Given the description of an element on the screen output the (x, y) to click on. 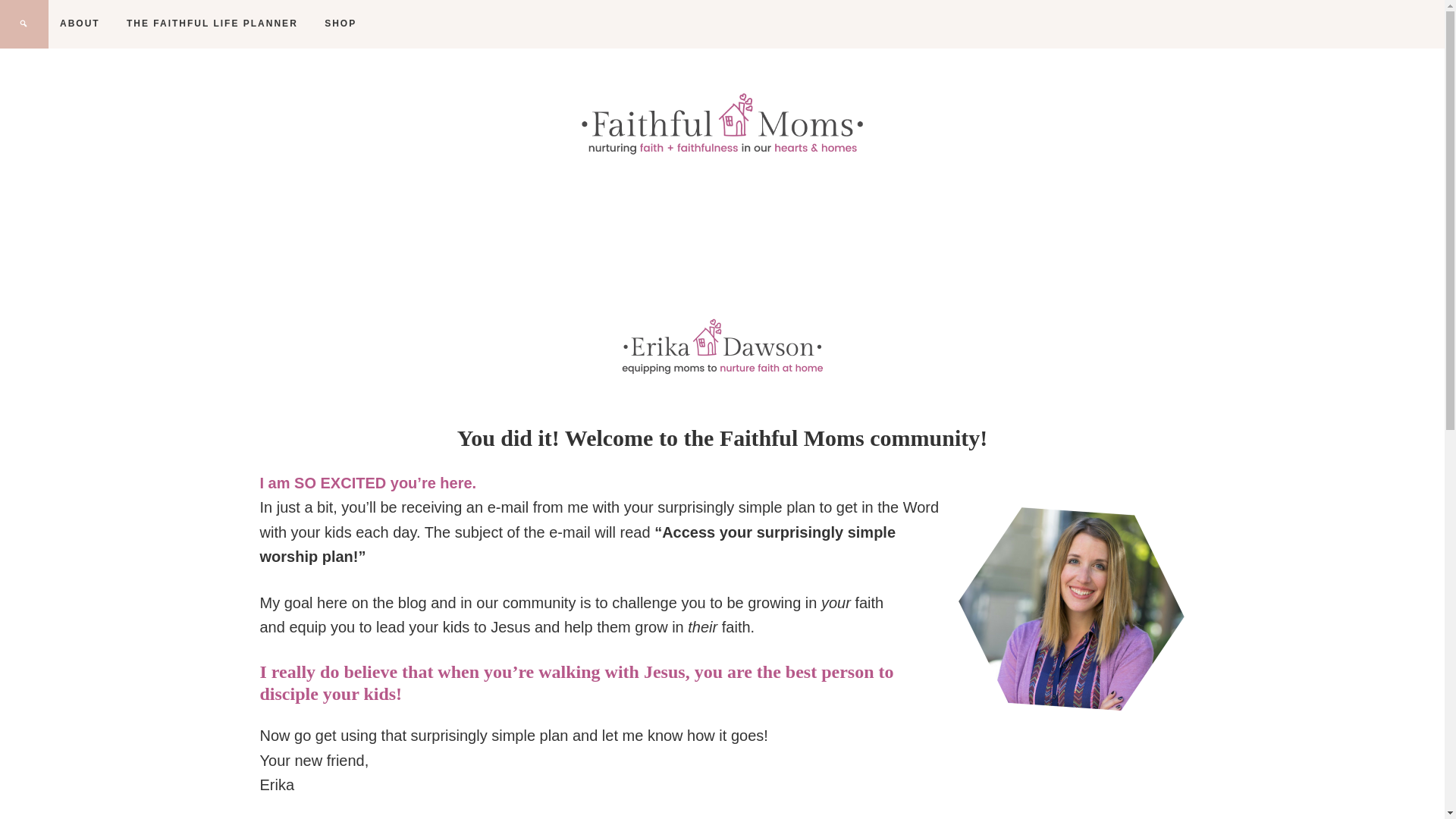
THE FAITHFUL LIFE PLANNER (211, 23)
SHOP (340, 23)
ABOUT (80, 23)
